Given the description of an element on the screen output the (x, y) to click on. 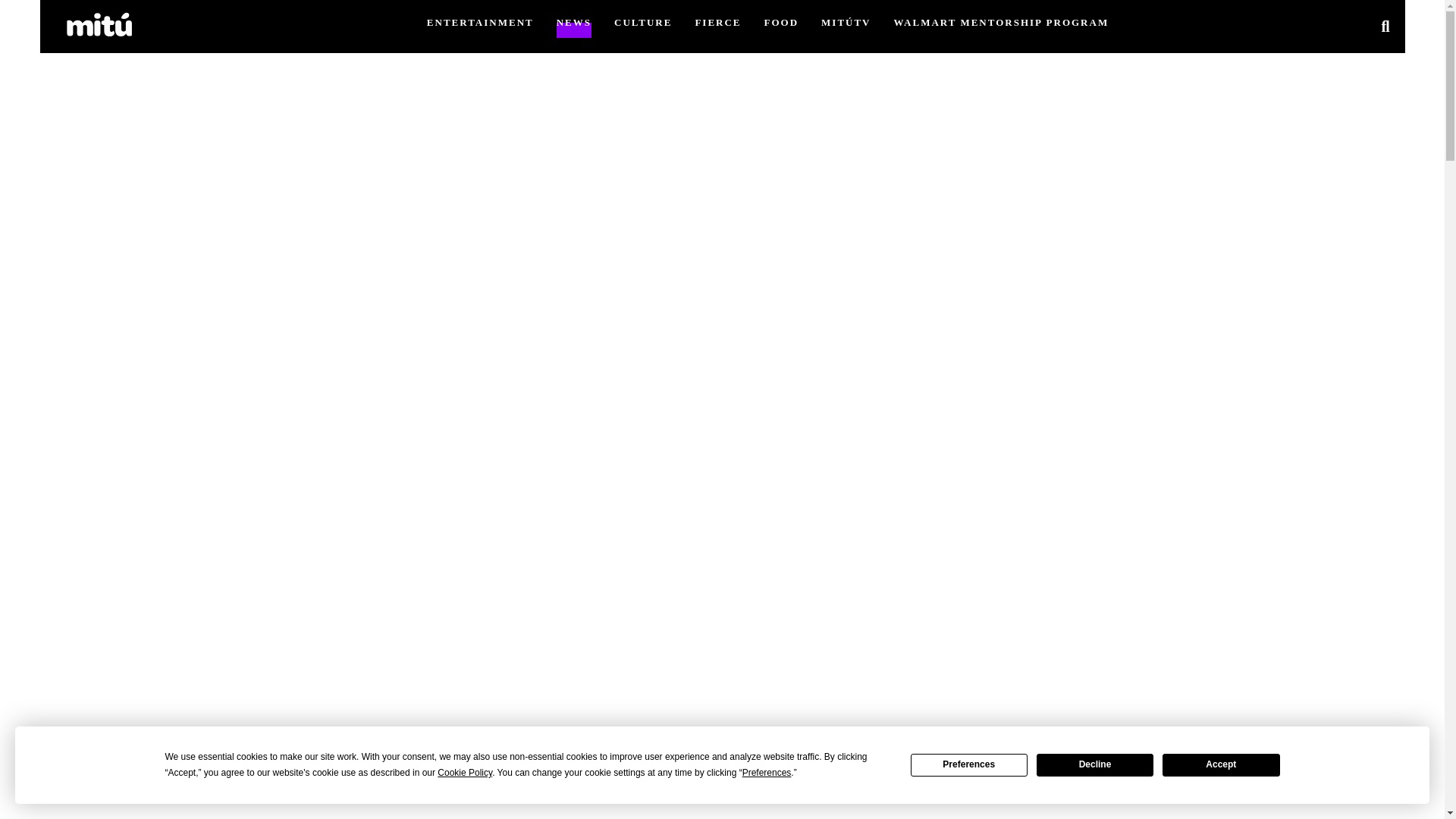
FIERCE (717, 21)
3rd party ad content (721, 784)
Preferences (969, 765)
NEWS (573, 21)
ENTERTAINMENT (480, 21)
CULTURE (642, 21)
FOOD (781, 21)
WALMART MENTORSHIP PROGRAM (1001, 21)
Decline (1094, 765)
Accept (1220, 765)
